Given the description of an element on the screen output the (x, y) to click on. 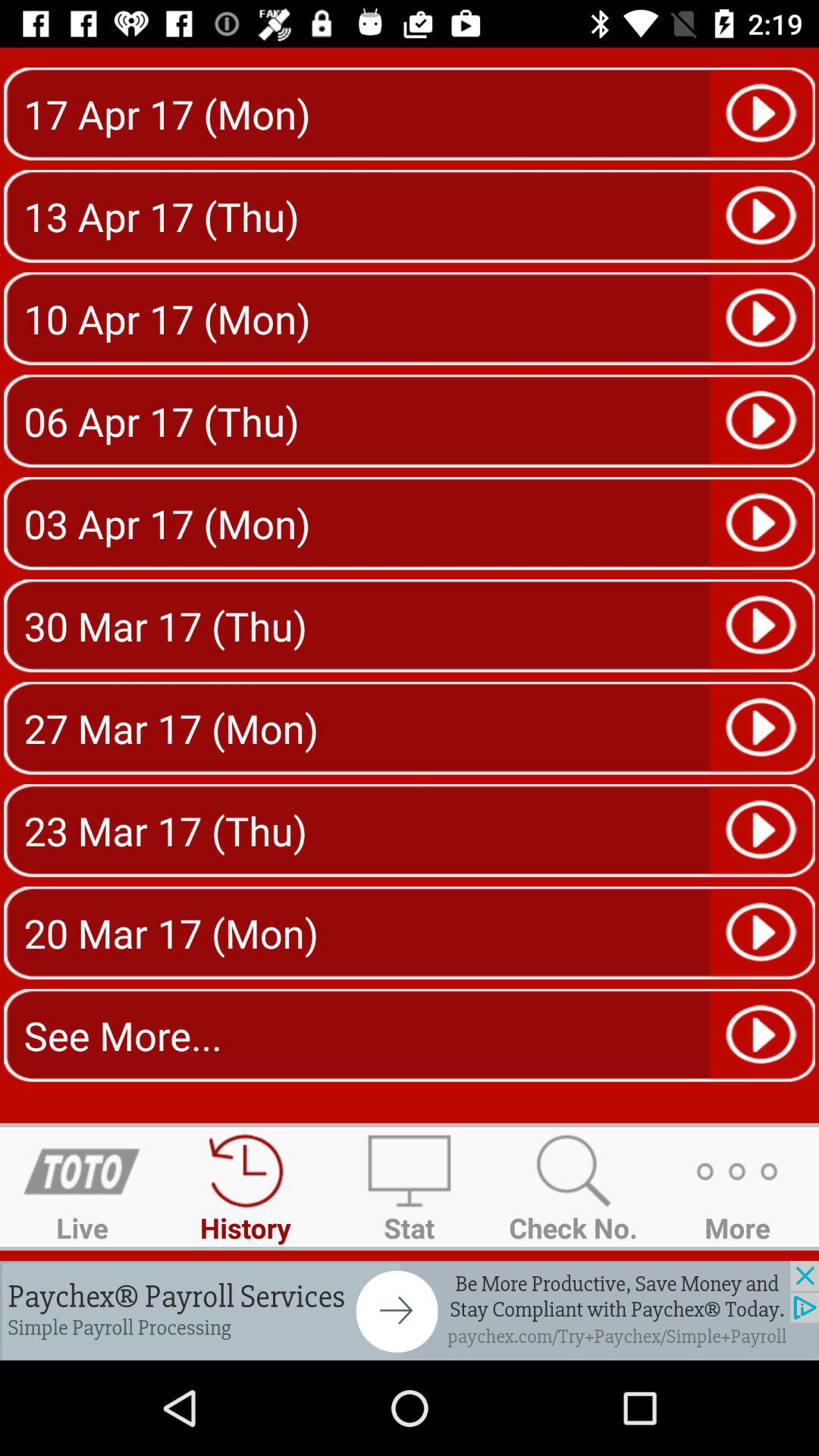
advertisement (409, 1310)
